Given the description of an element on the screen output the (x, y) to click on. 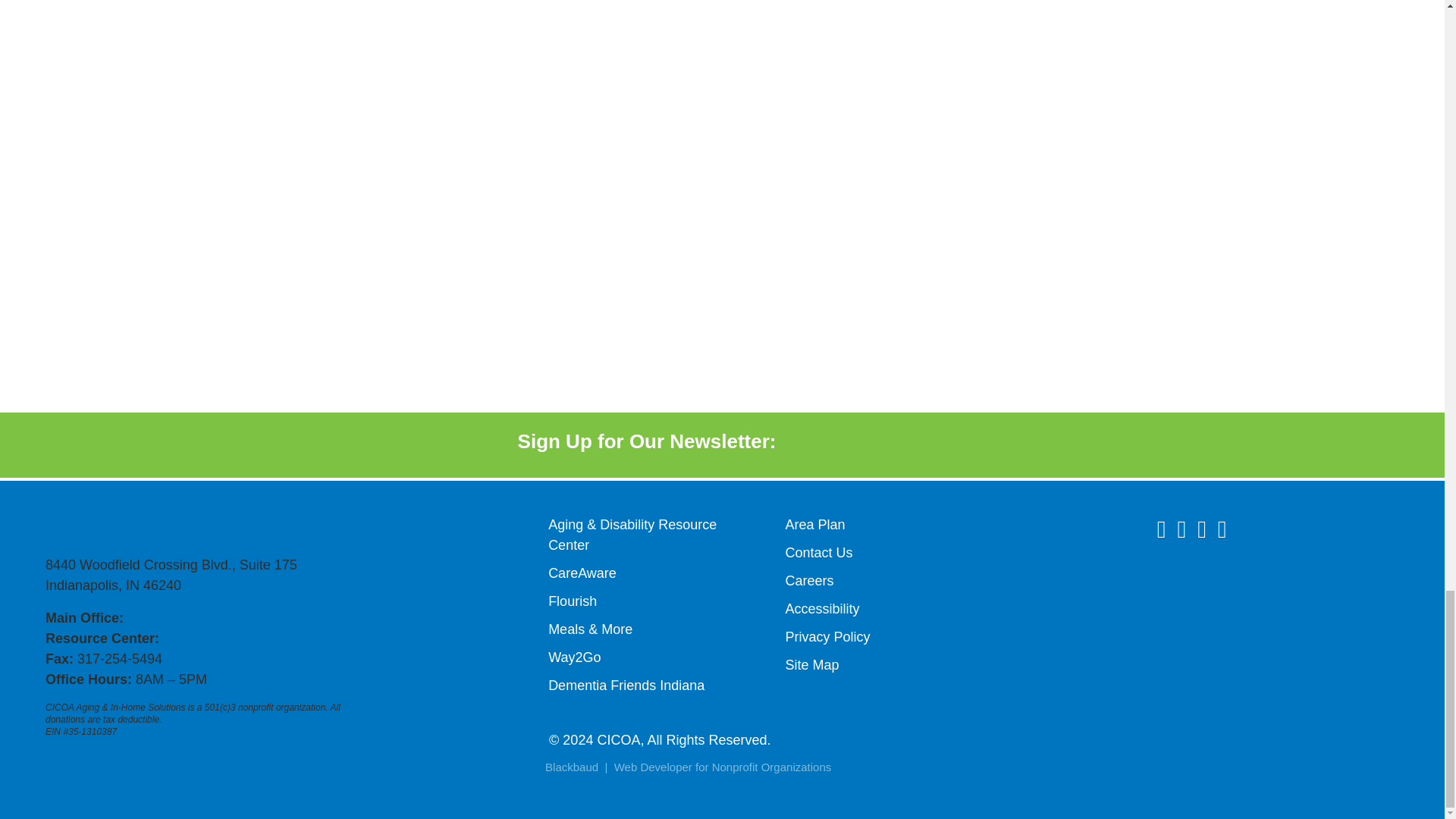
CICOA Foundation White (1162, 600)
